Given the description of an element on the screen output the (x, y) to click on. 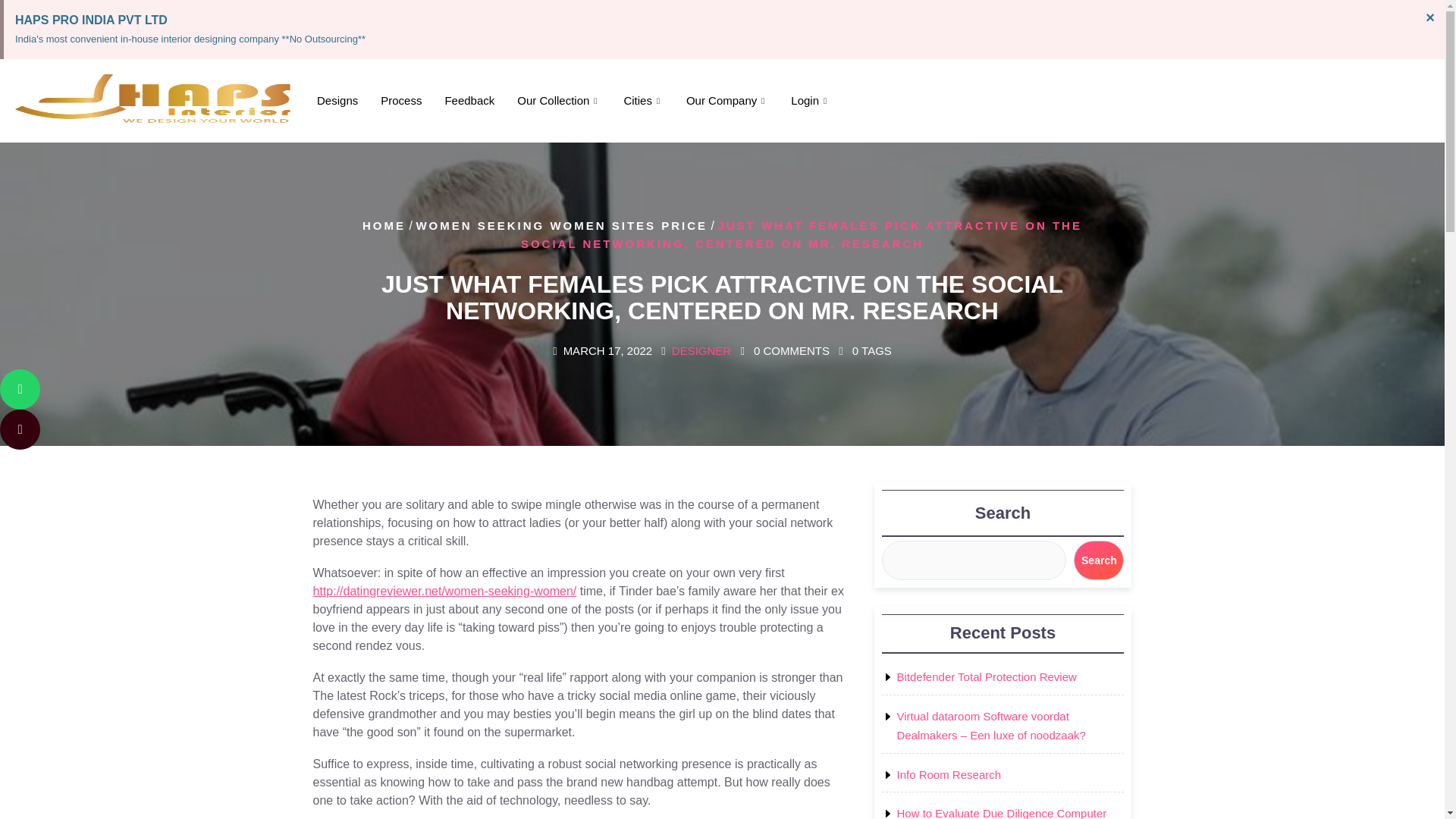
Our Collection (558, 100)
whatsapp (92, 389)
14 (20, 429)
14 (92, 429)
Process (400, 100)
Designs (337, 100)
Login (809, 100)
HOME (384, 225)
whatsapp (20, 389)
Cities (643, 100)
WOMEN SEEKING WOMEN SITES PRICE (560, 225)
Feedback (468, 100)
Our Company (726, 100)
